Given the description of an element on the screen output the (x, y) to click on. 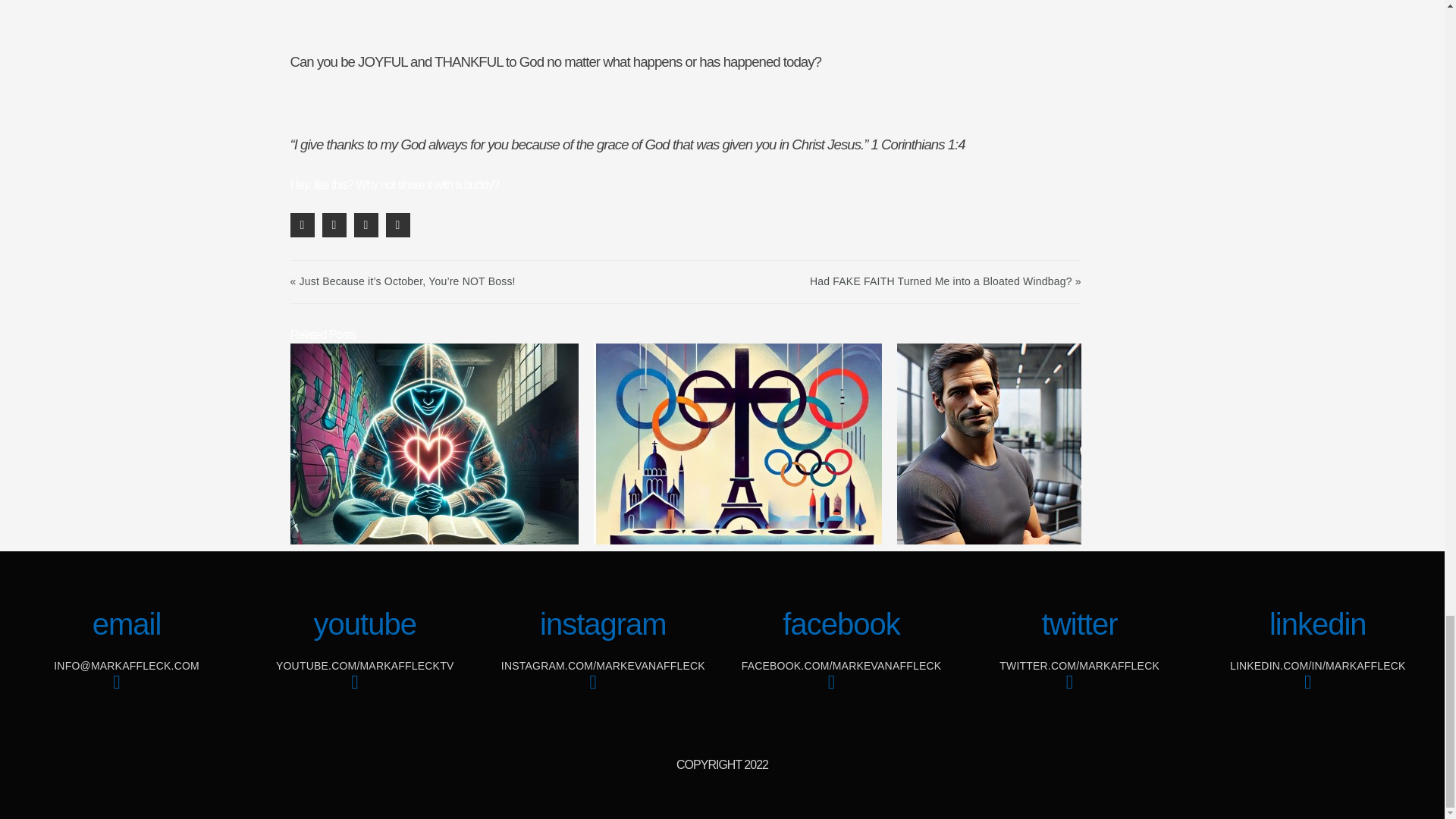
Youtube (364, 691)
Envelope (126, 691)
Instagram (603, 691)
Facebook (840, 691)
